Given the description of an element on the screen output the (x, y) to click on. 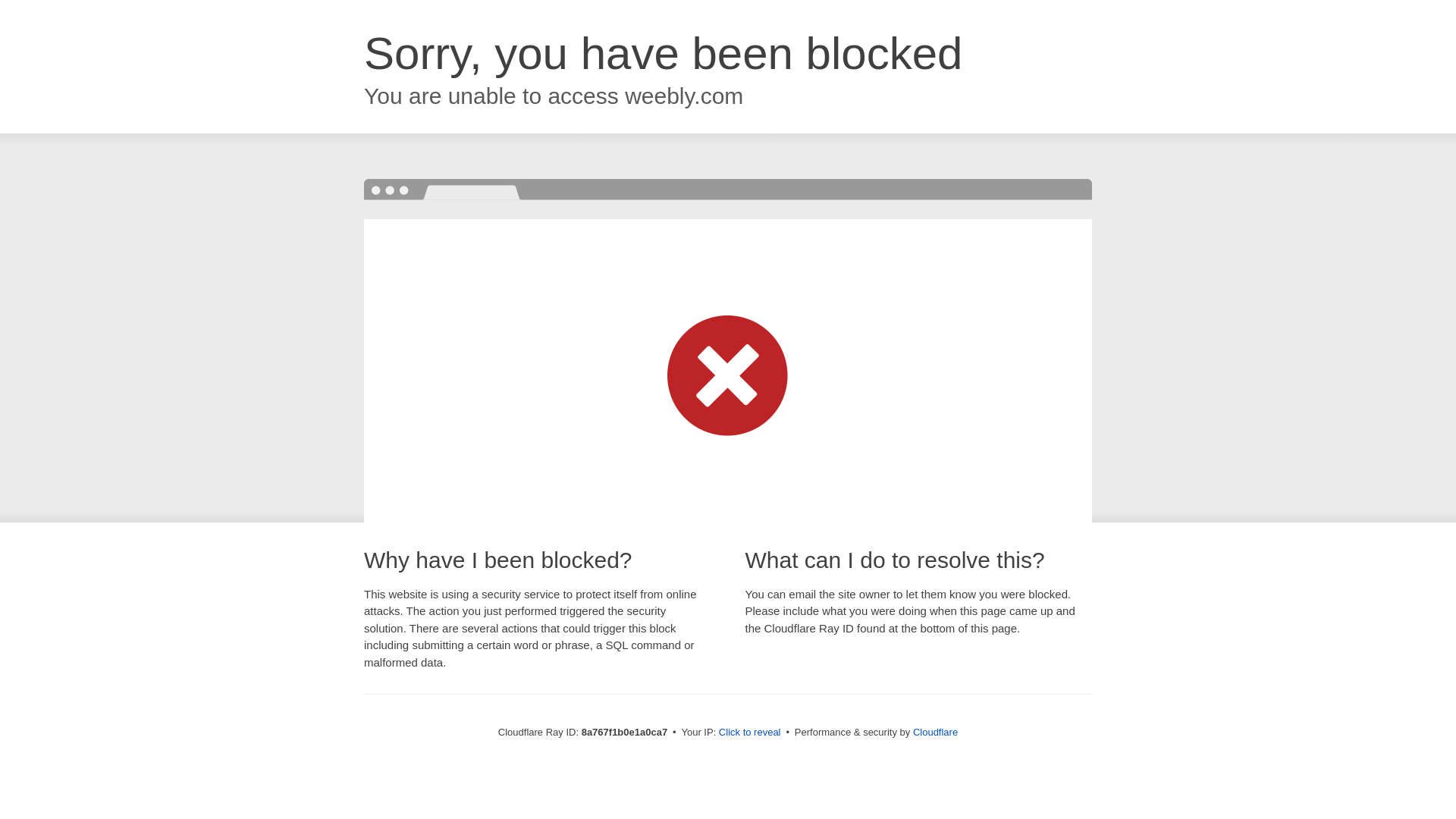
Click to reveal (749, 732)
Cloudflare (935, 731)
